Given the description of an element on the screen output the (x, y) to click on. 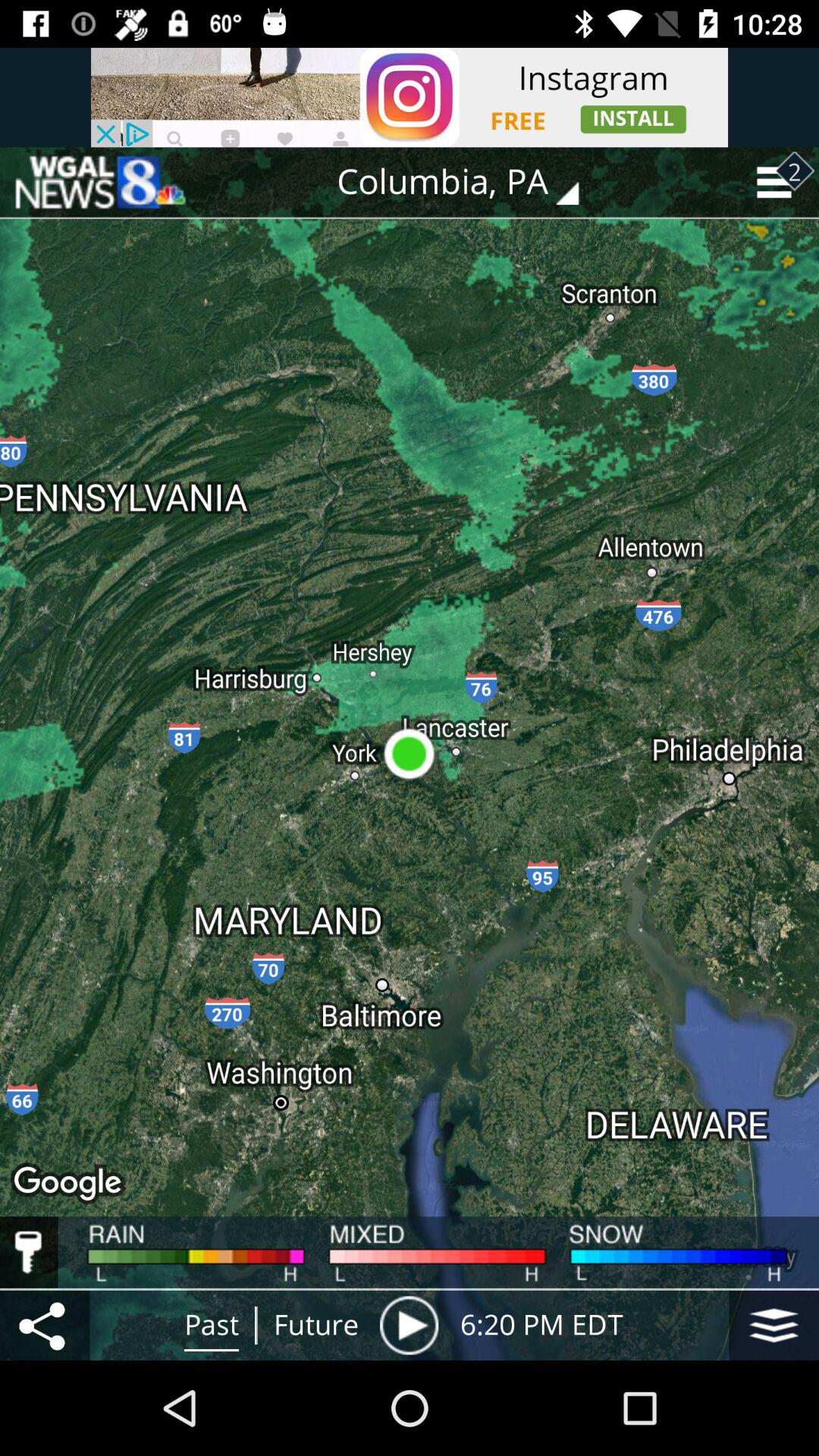
scroll to the columbia, pa (468, 182)
